Given the description of an element on the screen output the (x, y) to click on. 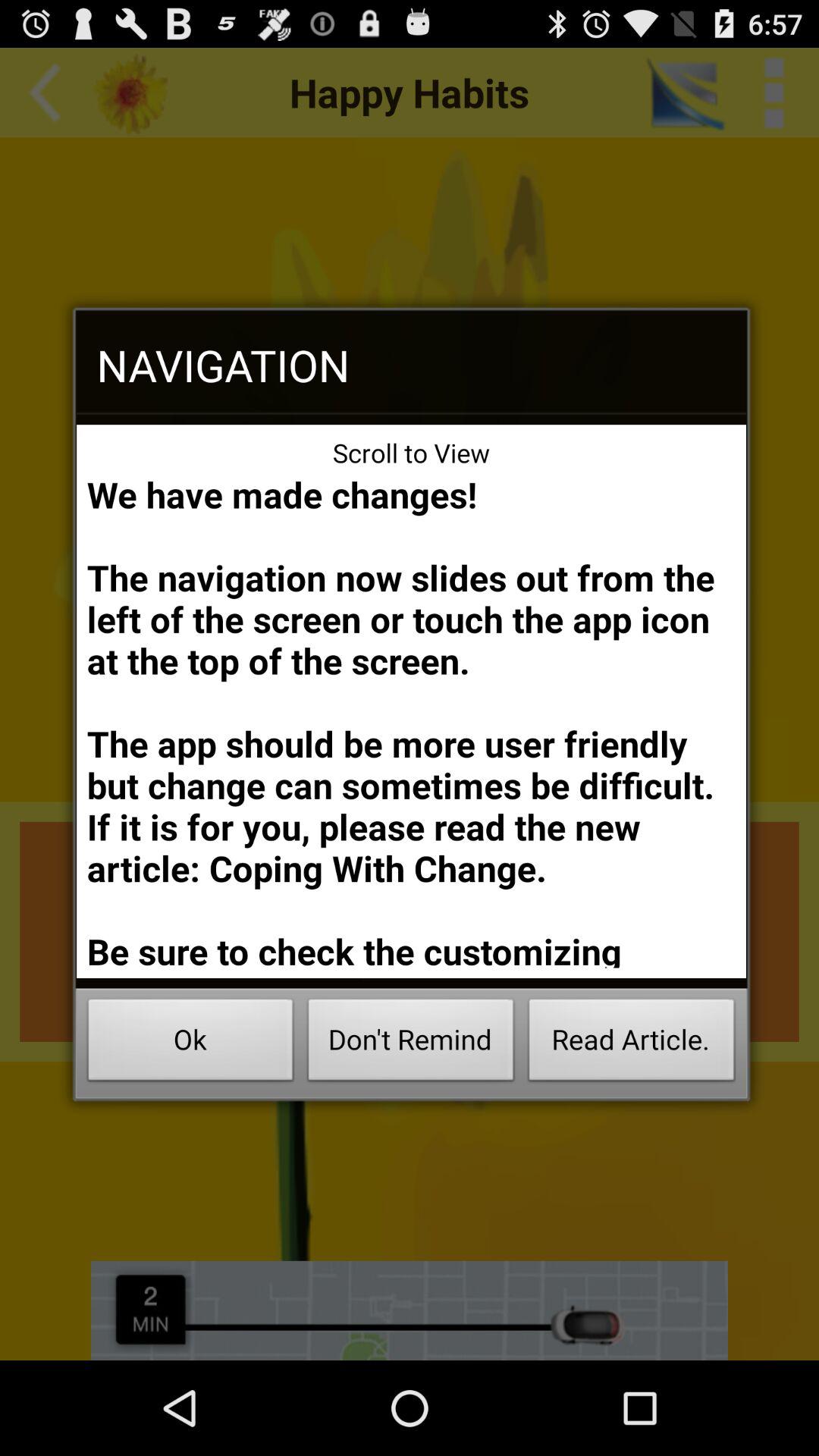
scroll to the read article. icon (631, 1044)
